Given the description of an element on the screen output the (x, y) to click on. 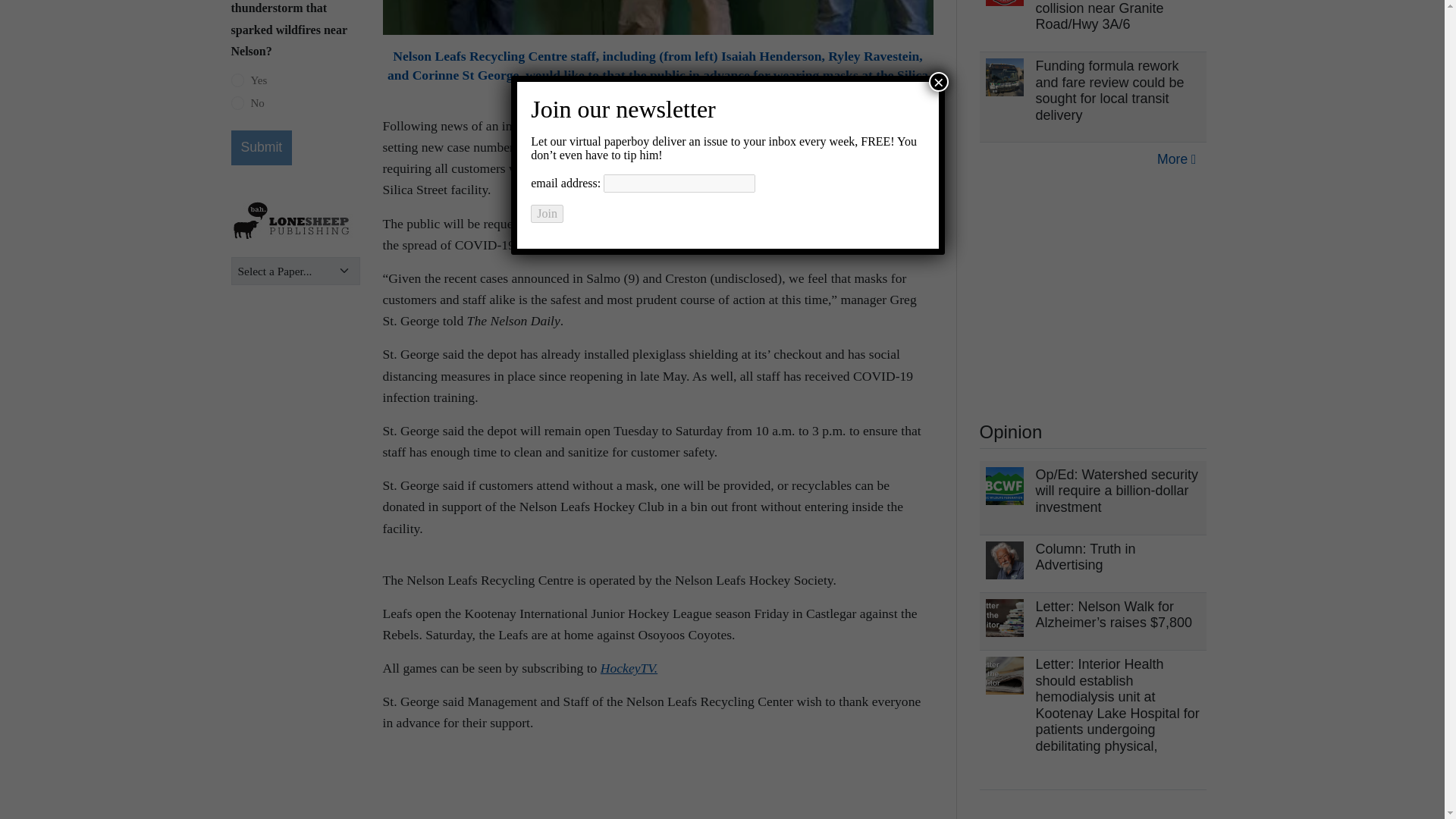
Submit (261, 147)
